Given the description of an element on the screen output the (x, y) to click on. 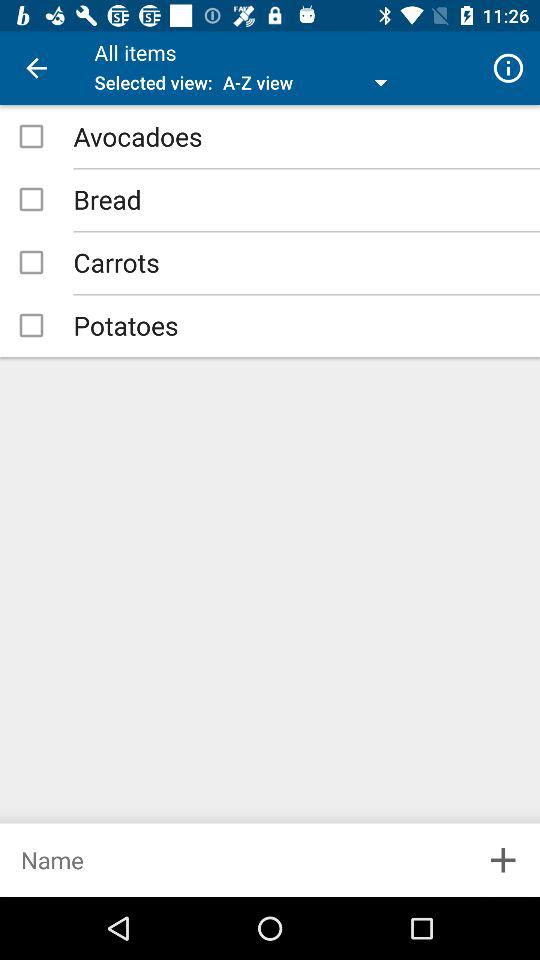
enter new list item name (233, 860)
